Given the description of an element on the screen output the (x, y) to click on. 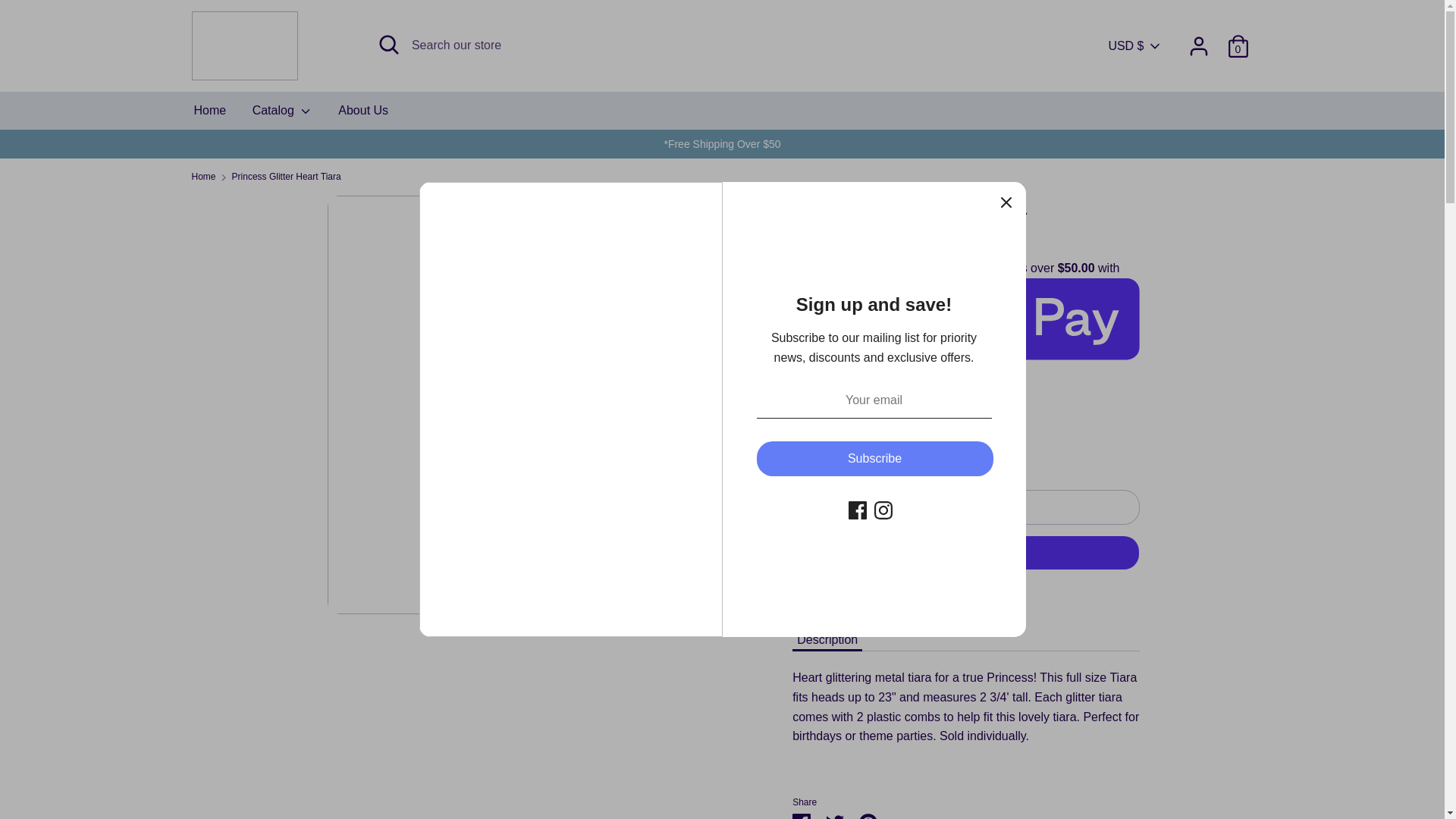
1 (830, 448)
